Given the description of an element on the screen output the (x, y) to click on. 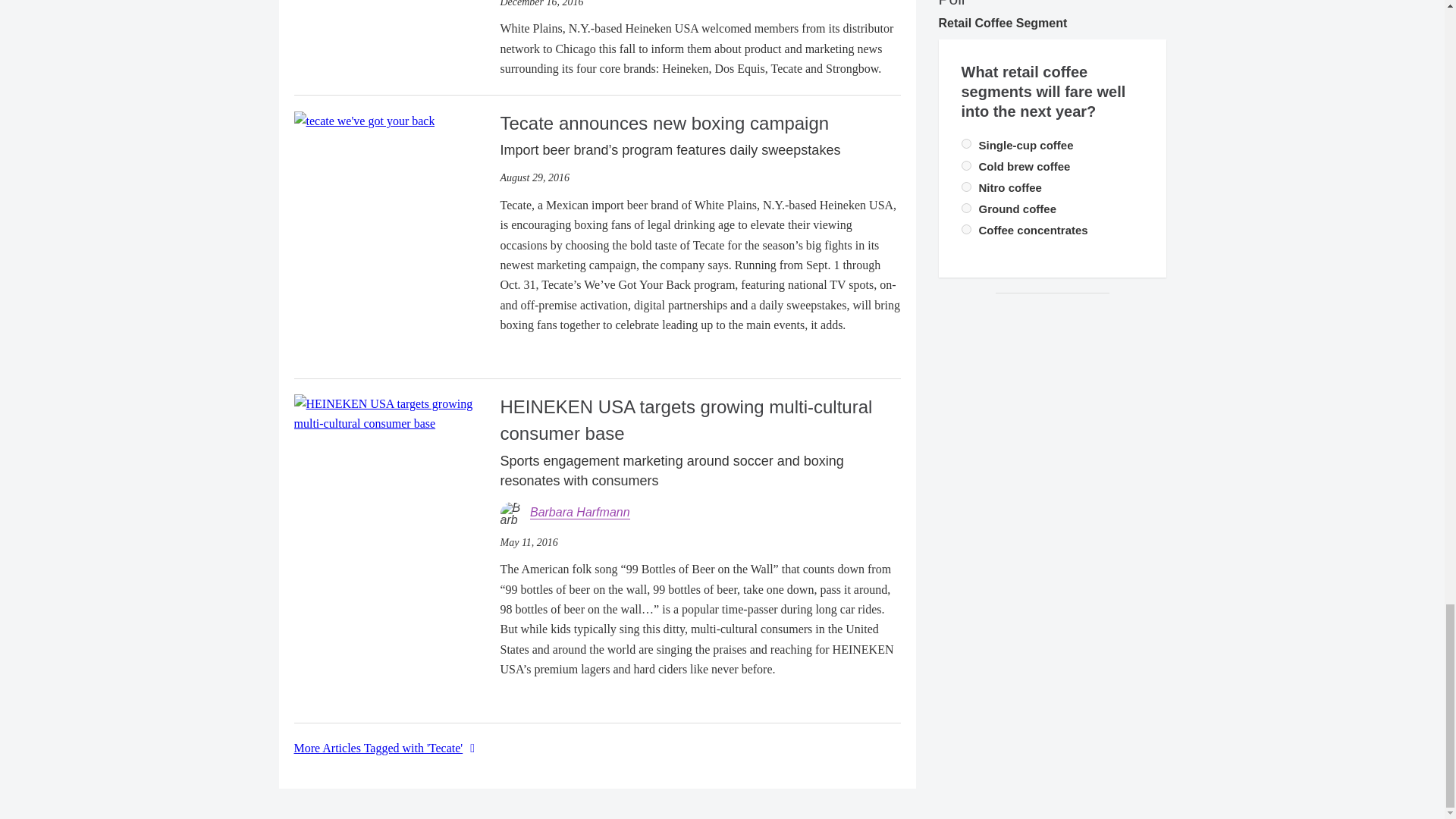
3094 (965, 186)
3092 (965, 143)
3093 (965, 165)
3095 (965, 229)
3096 (965, 207)
